Given the description of an element on the screen output the (x, y) to click on. 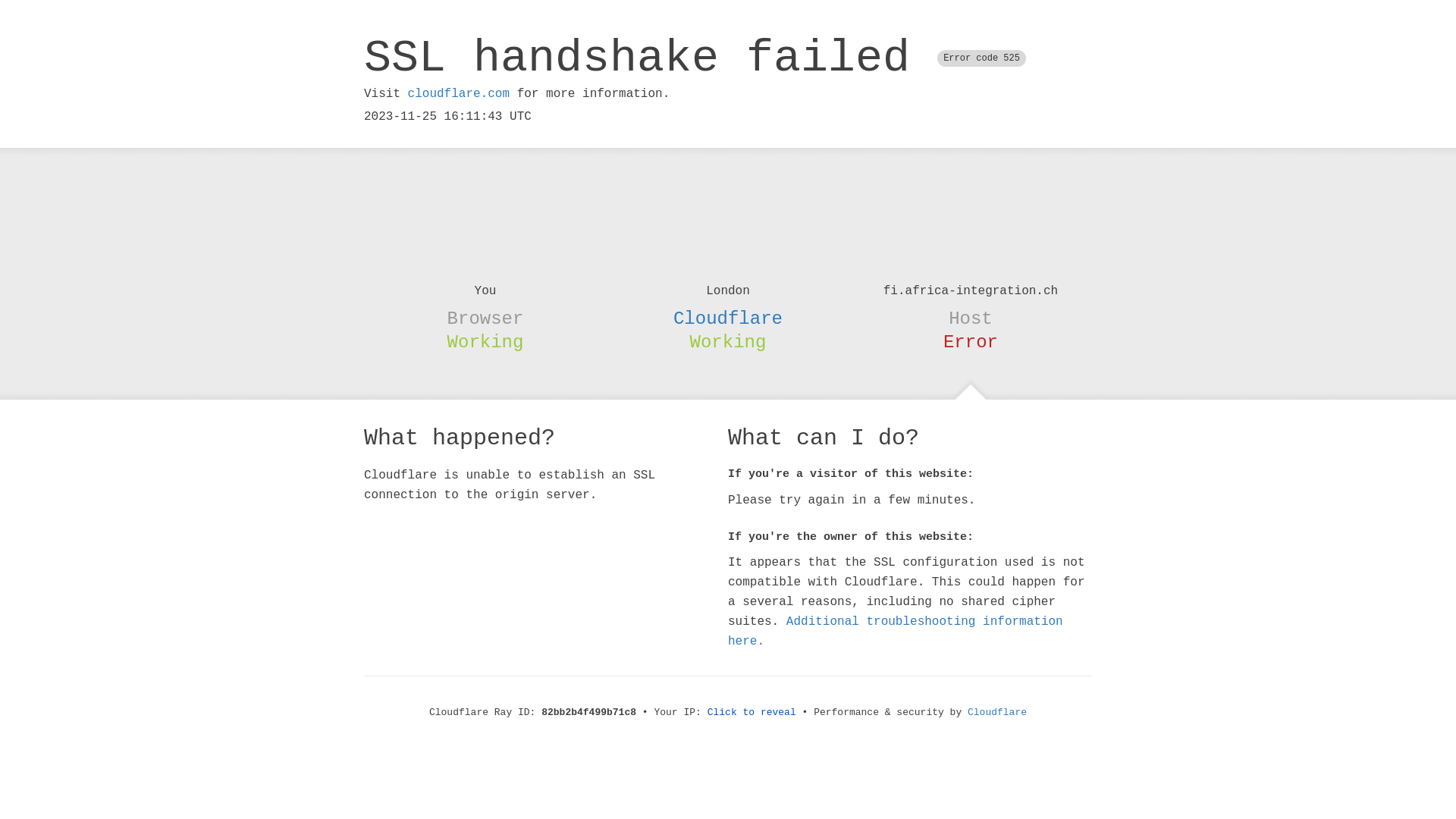
Cloudflare Element type: text (996, 712)
cloudflare.com Element type: text (458, 93)
Additional troubleshooting information here. Element type: text (895, 631)
Cloudflare Element type: text (727, 318)
Click to reveal Element type: text (751, 712)
